Given the description of an element on the screen output the (x, y) to click on. 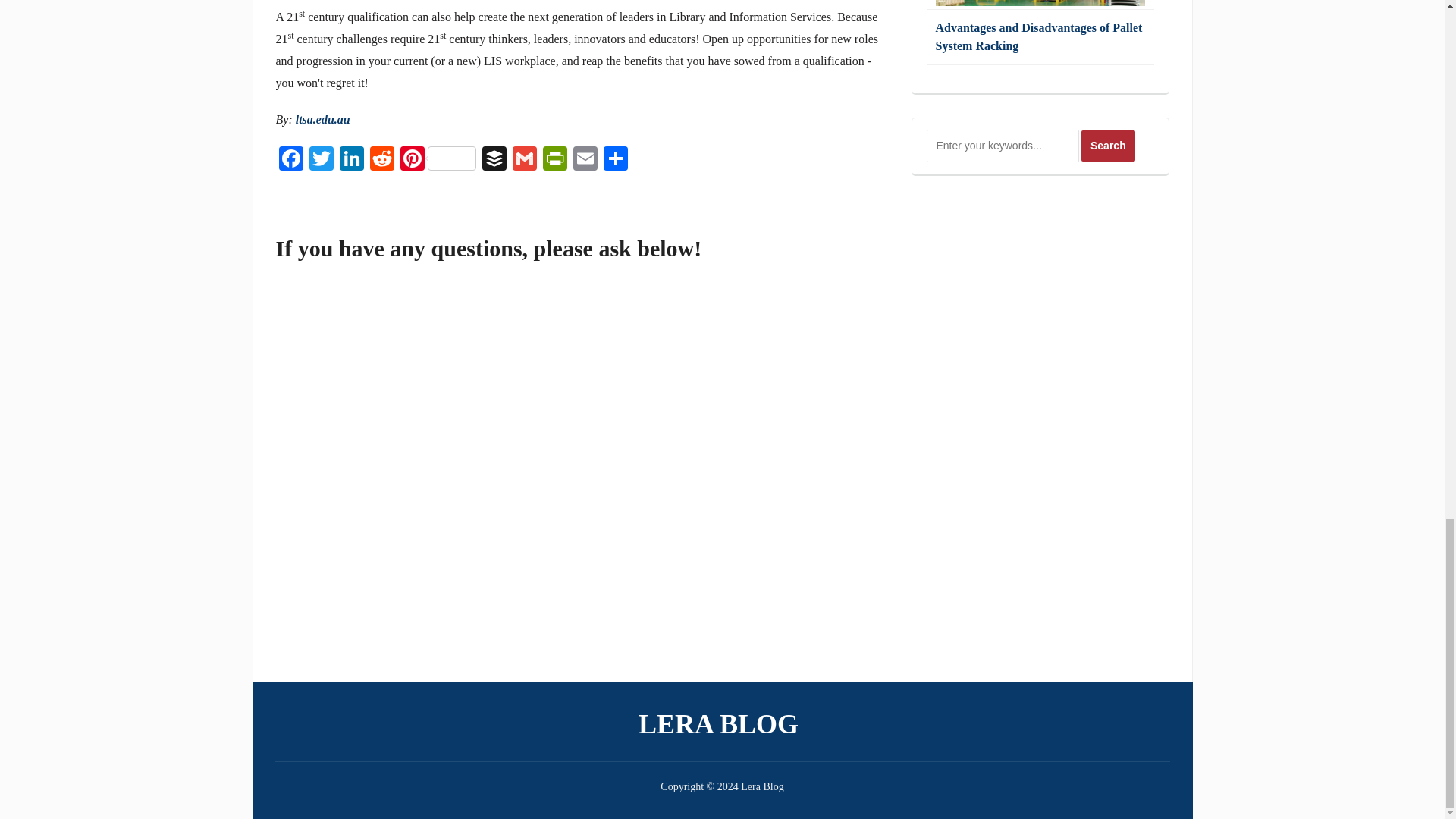
Search (1108, 145)
Pinterest (438, 160)
Reddit (381, 160)
Search (1108, 145)
Twitter (320, 160)
Facebook (290, 160)
LinkedIn (351, 160)
Buffer (494, 160)
Gmail (524, 160)
